Given the description of an element on the screen output the (x, y) to click on. 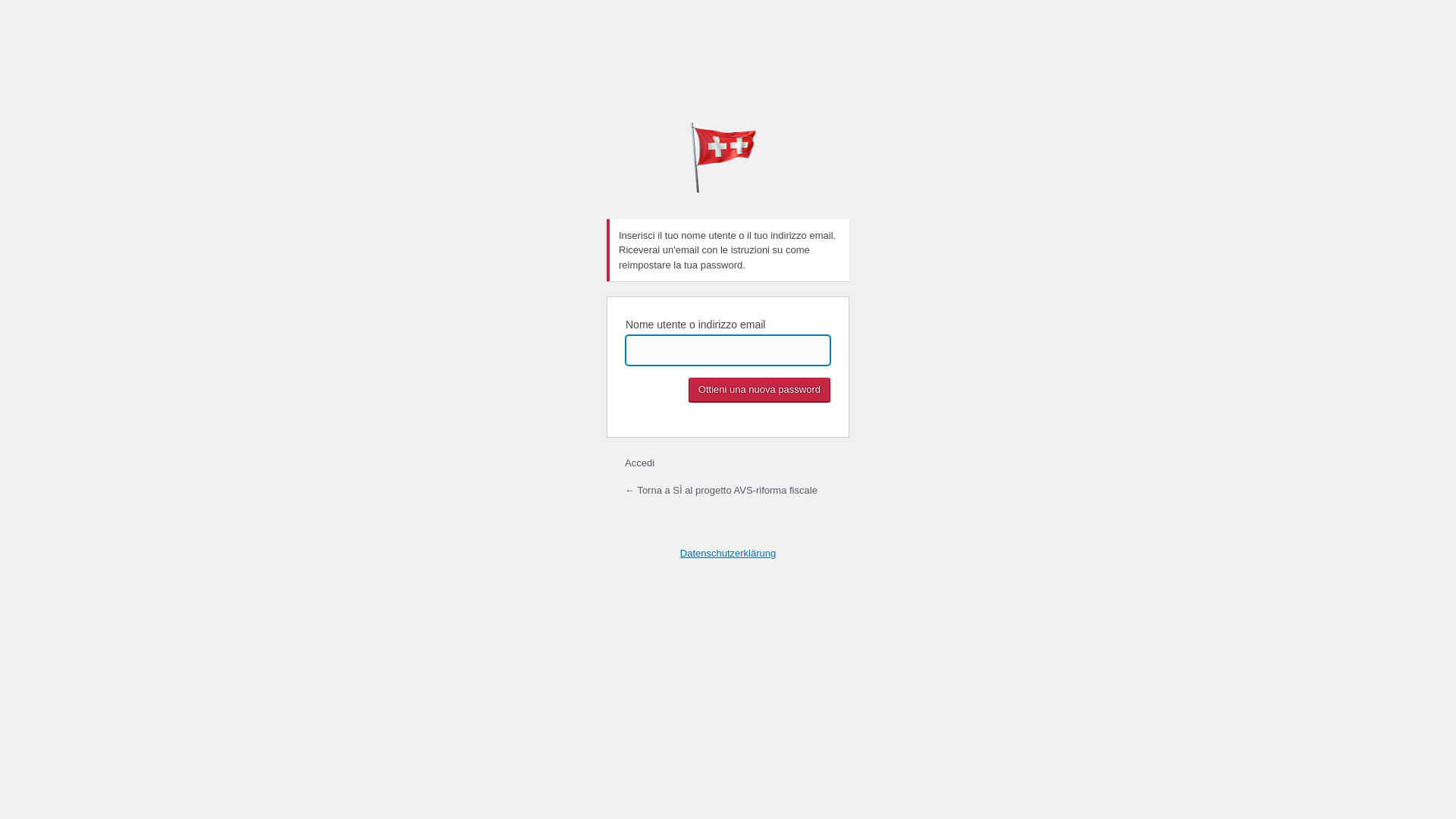
Ottieni una nuova password Element type: text (759, 389)
Accedi Element type: text (639, 462)
Powered by WordPress Element type: text (727, 158)
